Given the description of an element on the screen output the (x, y) to click on. 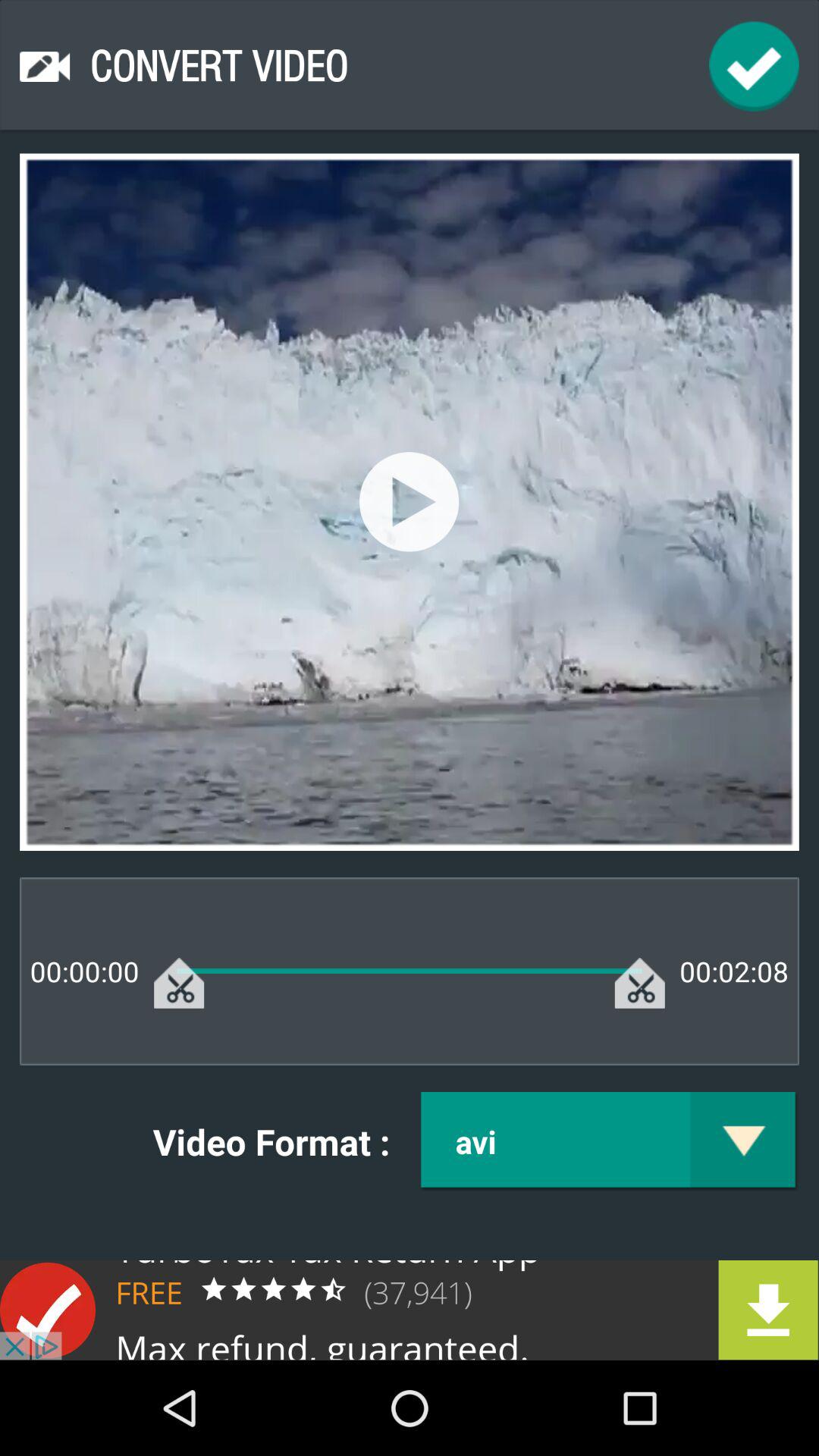
advertisement (409, 1309)
